Given the description of an element on the screen output the (x, y) to click on. 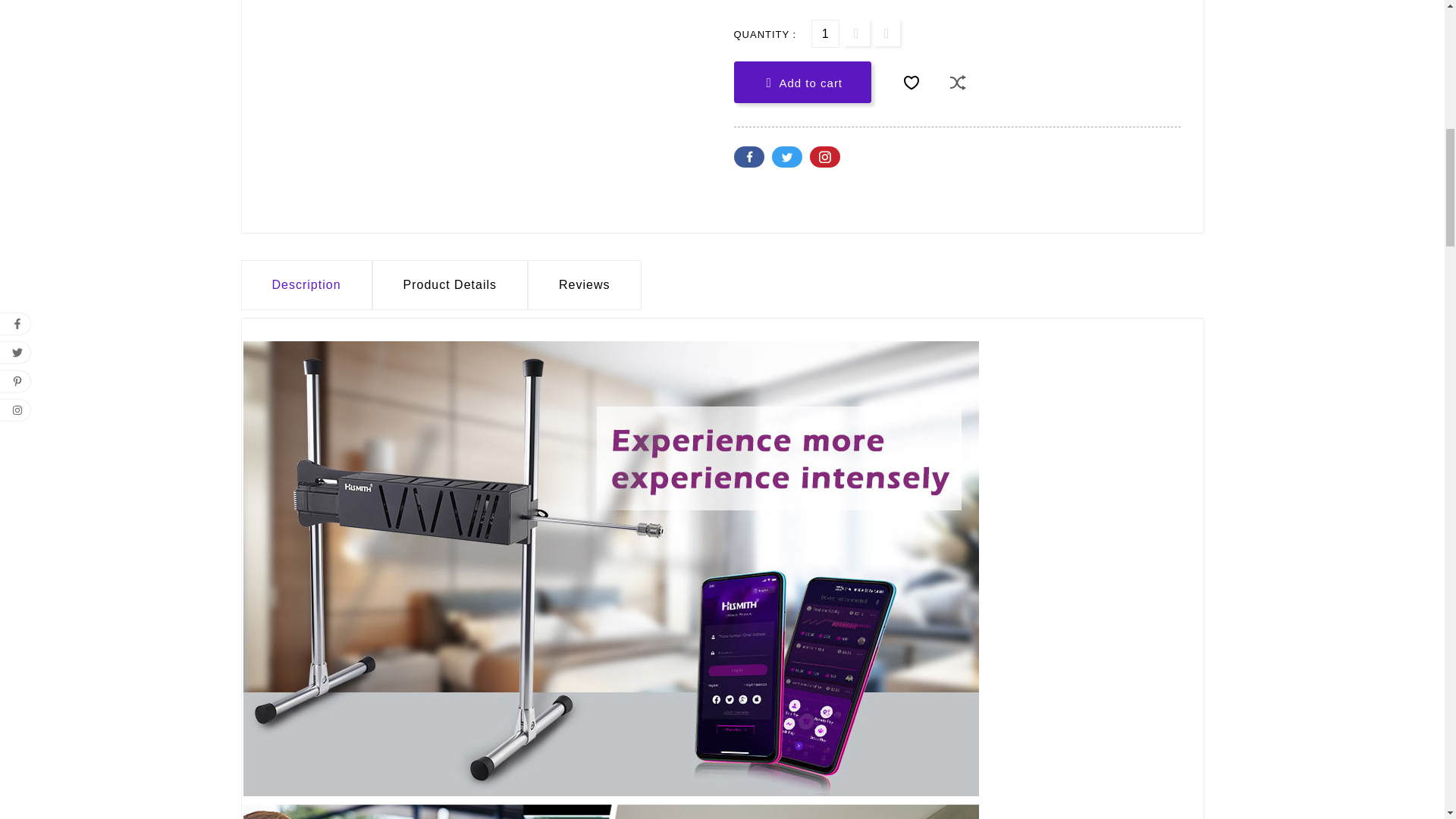
1 (825, 33)
